Given the description of an element on the screen output the (x, y) to click on. 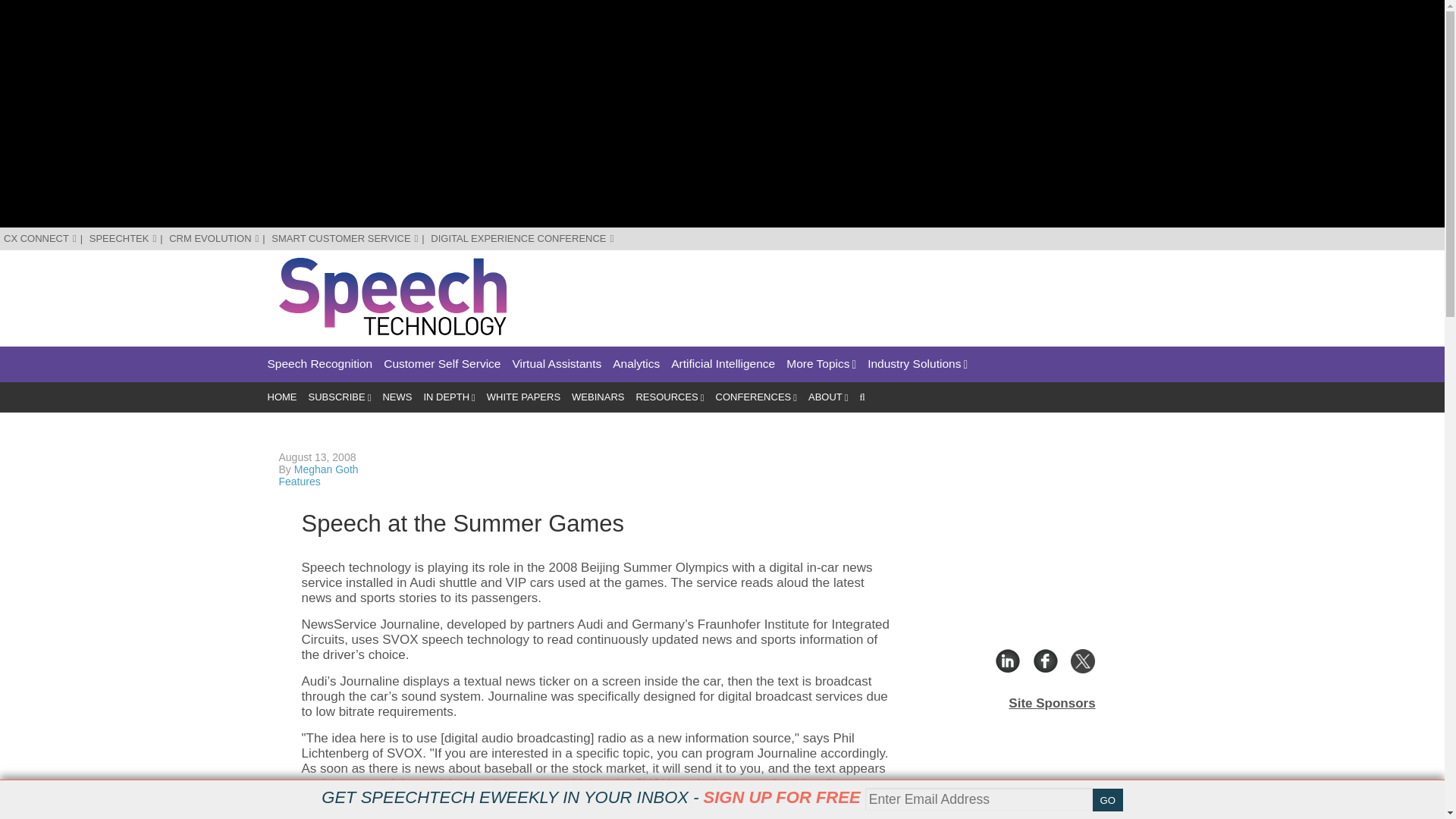
Analytics (635, 364)
Speech Recognition (319, 364)
Customer Self Service (442, 364)
SMART CUSTOMER SERVICE (343, 238)
Artificial Intelligence (722, 364)
GO (1107, 799)
3rd party ad content (890, 291)
More Topics (821, 364)
Virtual Assistants (556, 364)
SPEECHTEK (122, 238)
Artificial Intelligence (722, 364)
Speech Recognition (319, 364)
Industry Solutions (917, 364)
CRM EVOLUTION (213, 238)
